Given the description of an element on the screen output the (x, y) to click on. 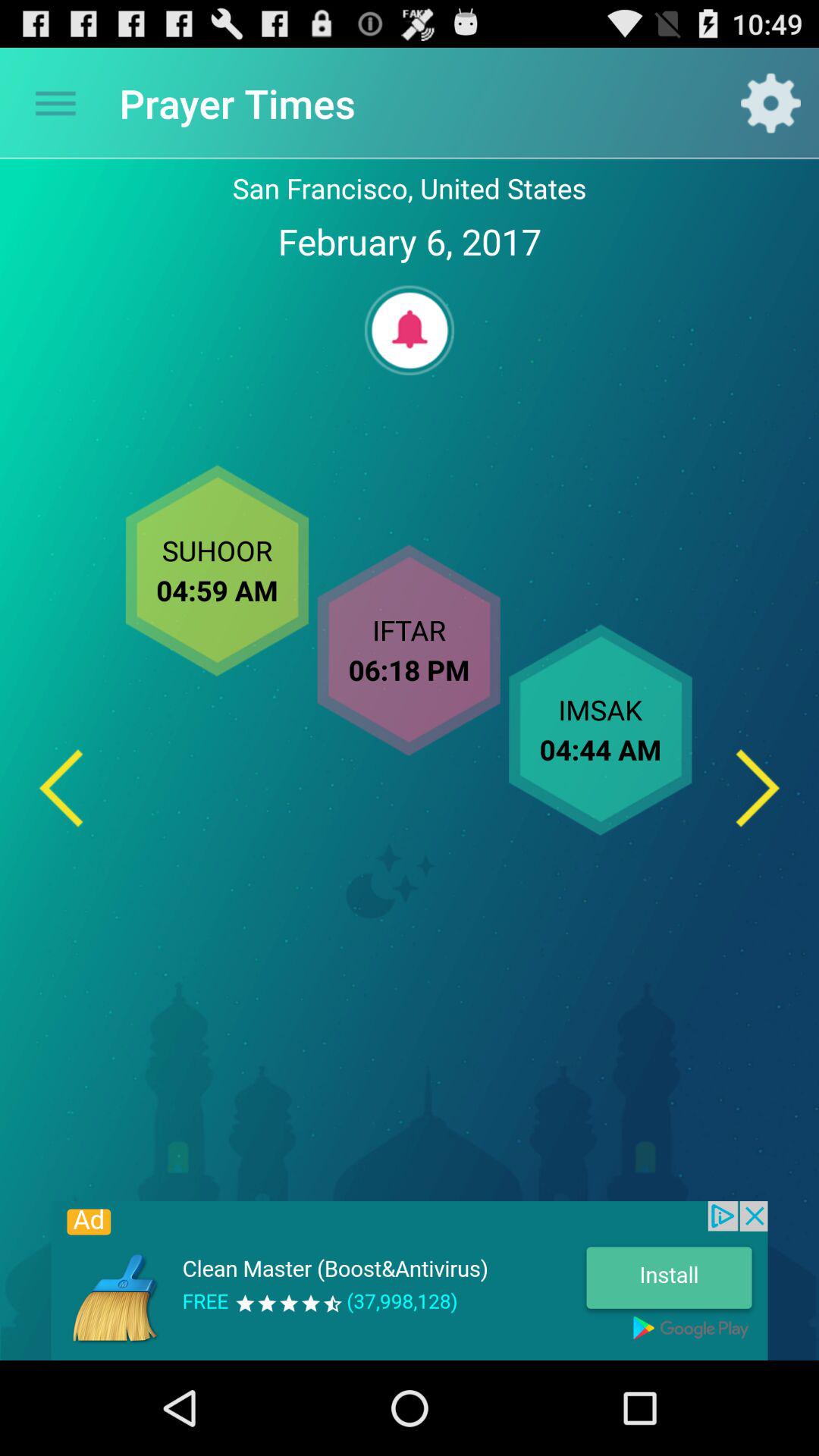
open advertisement (409, 1280)
